Given the description of an element on the screen output the (x, y) to click on. 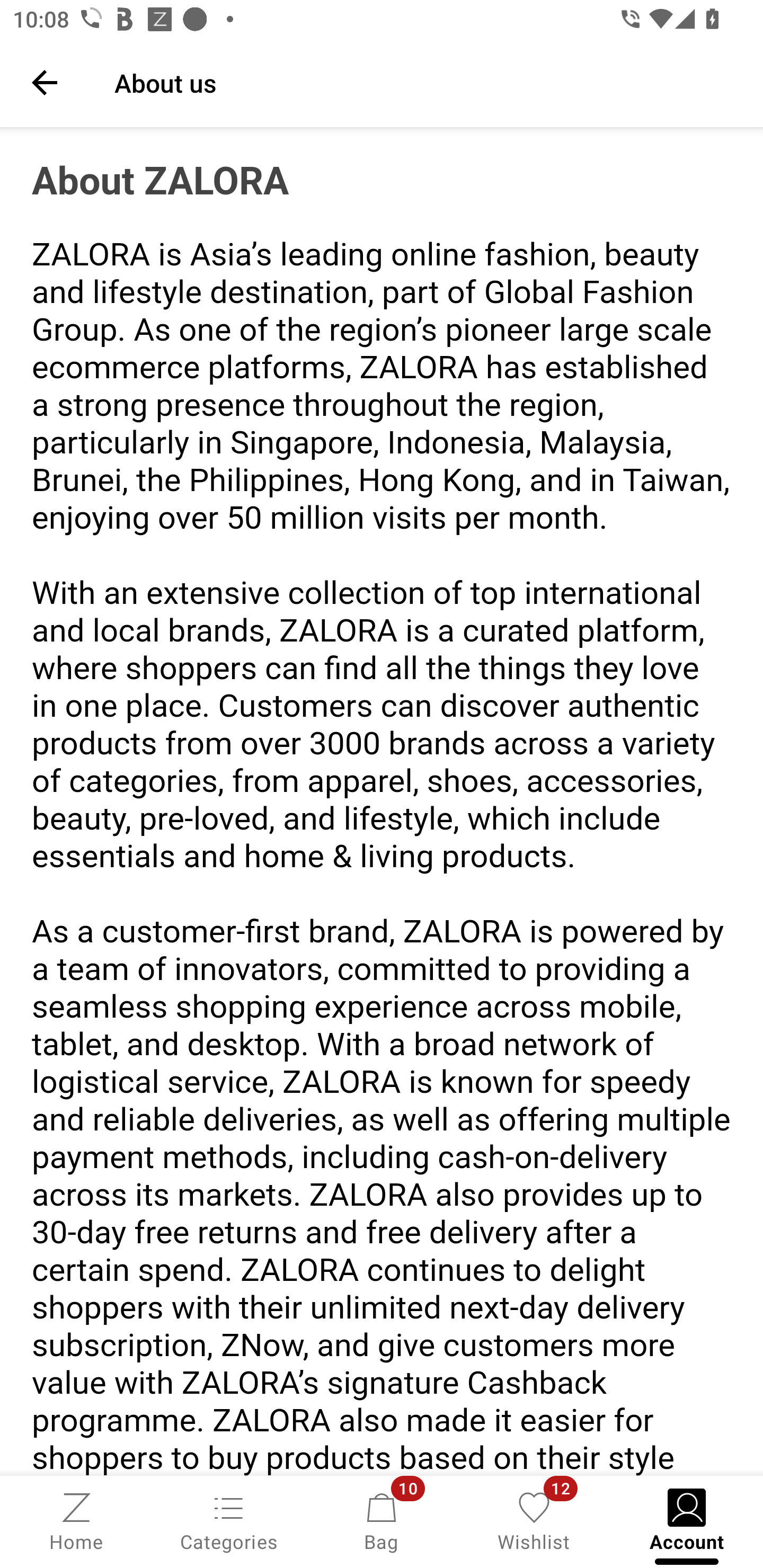
Navigate up (44, 82)
About us (426, 82)
Home (76, 1519)
Categories (228, 1519)
Bag, 10 new notifications Bag (381, 1519)
Wishlist, 12 new notifications Wishlist (533, 1519)
